Given the description of an element on the screen output the (x, y) to click on. 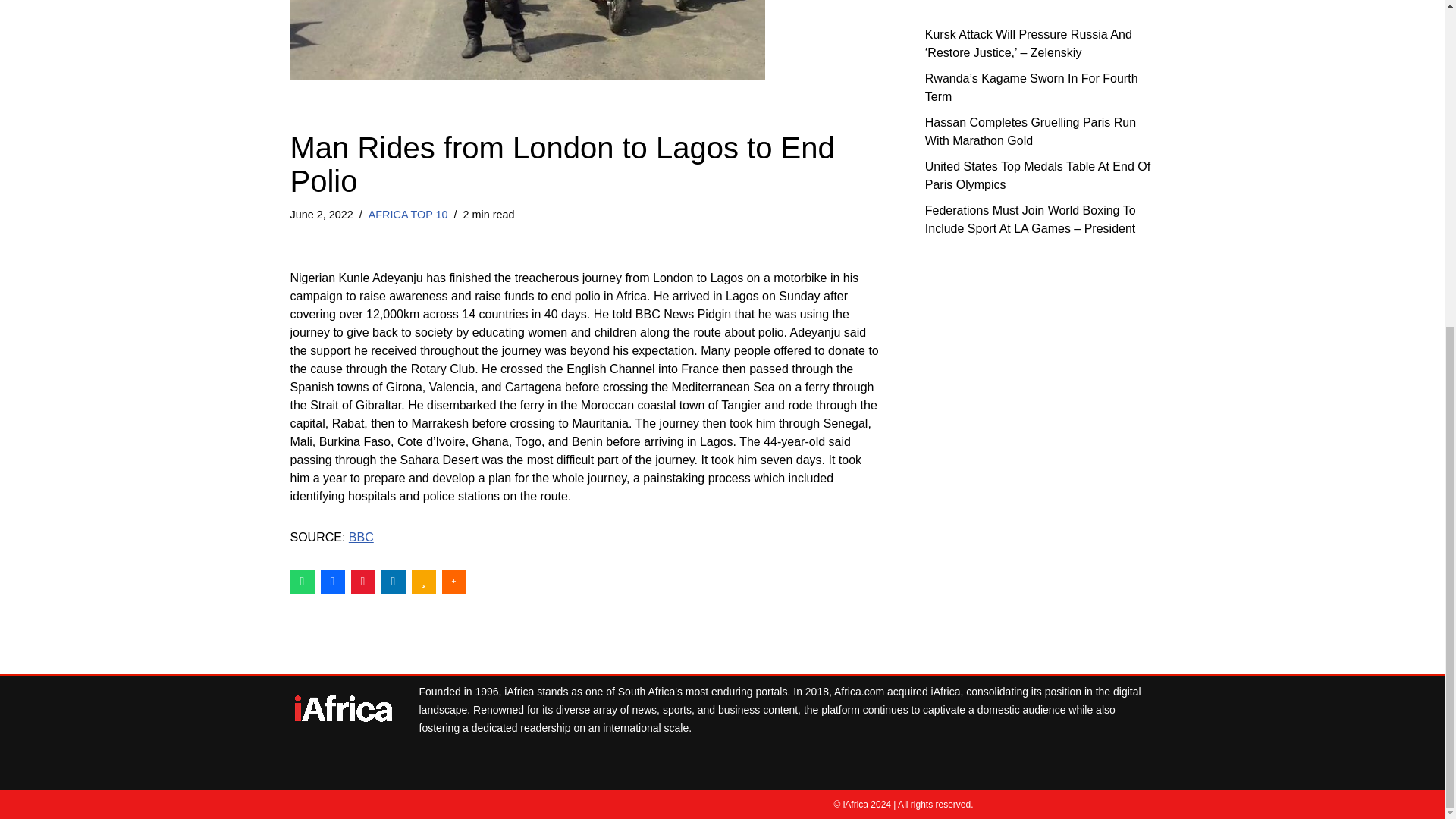
Share this on Facebook (331, 581)
Add this to LinkedIn (392, 581)
Add to favorites (422, 581)
BBC (361, 536)
United States Top Medals Table At End Of Paris Olympics (1037, 174)
Hassan Completes Gruelling Paris Run With Marathon Gold (1029, 130)
WhatsApp (301, 581)
Convert to PDF (362, 581)
More share links (453, 581)
AFRICA TOP 10 (408, 214)
